Given the description of an element on the screen output the (x, y) to click on. 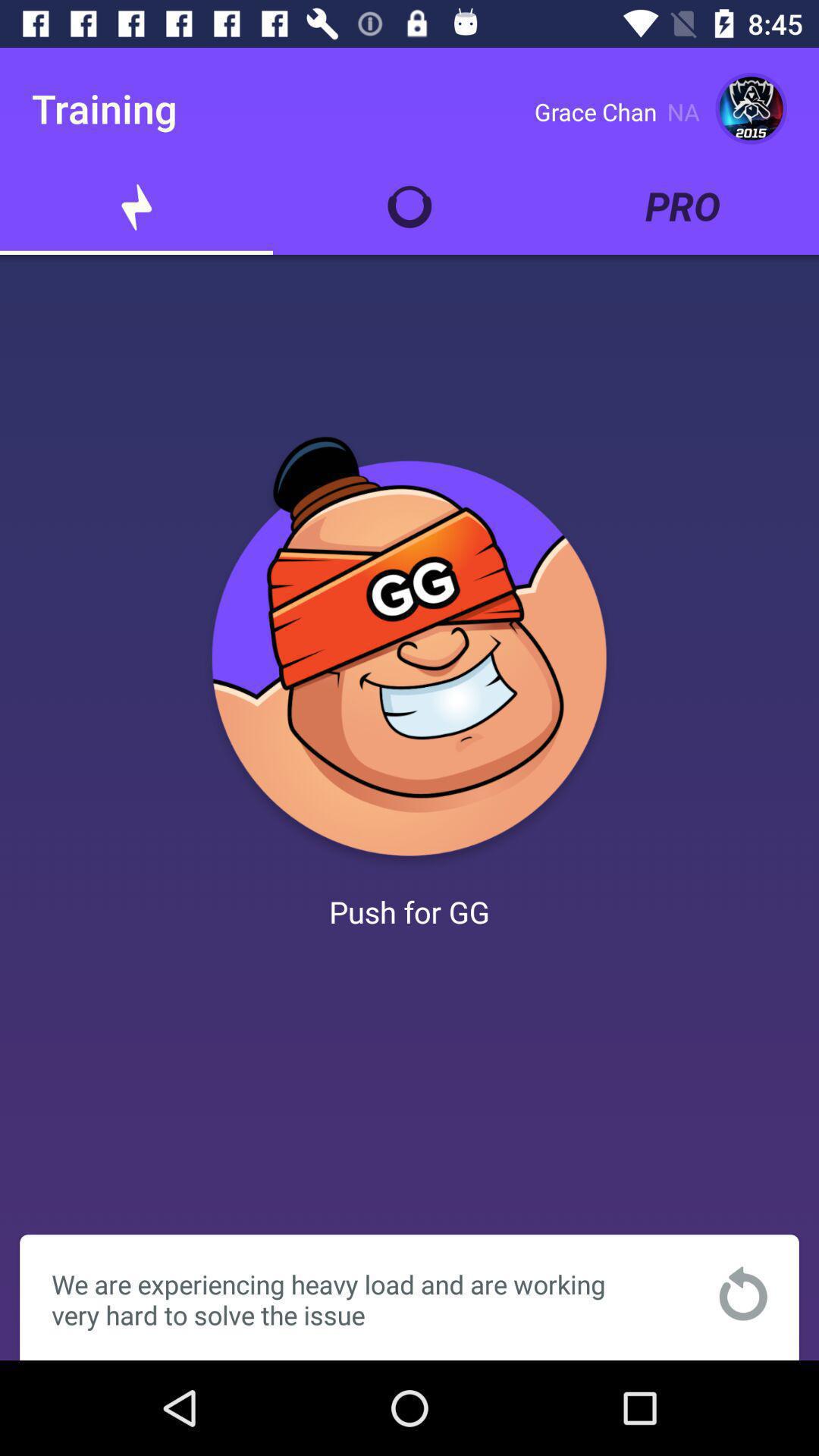
launch the icon below push for gg item (743, 1293)
